Given the description of an element on the screen output the (x, y) to click on. 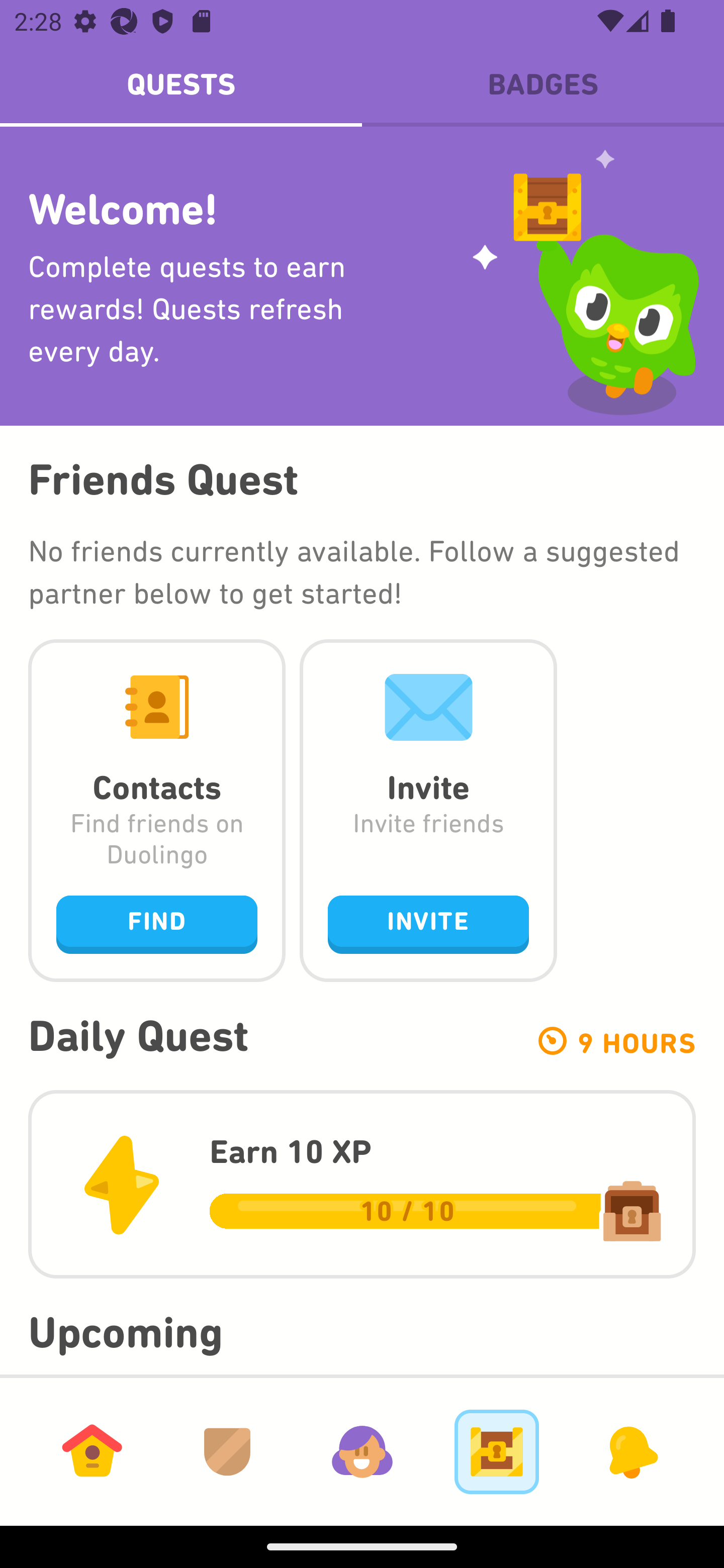
BADGES (543, 84)
FIND (156, 924)
INVITE (428, 924)
Learn Tab (91, 1451)
Leagues Tab (227, 1451)
Profile Tab (361, 1451)
Goals Tab (496, 1451)
News Tab (631, 1451)
